Given the description of an element on the screen output the (x, y) to click on. 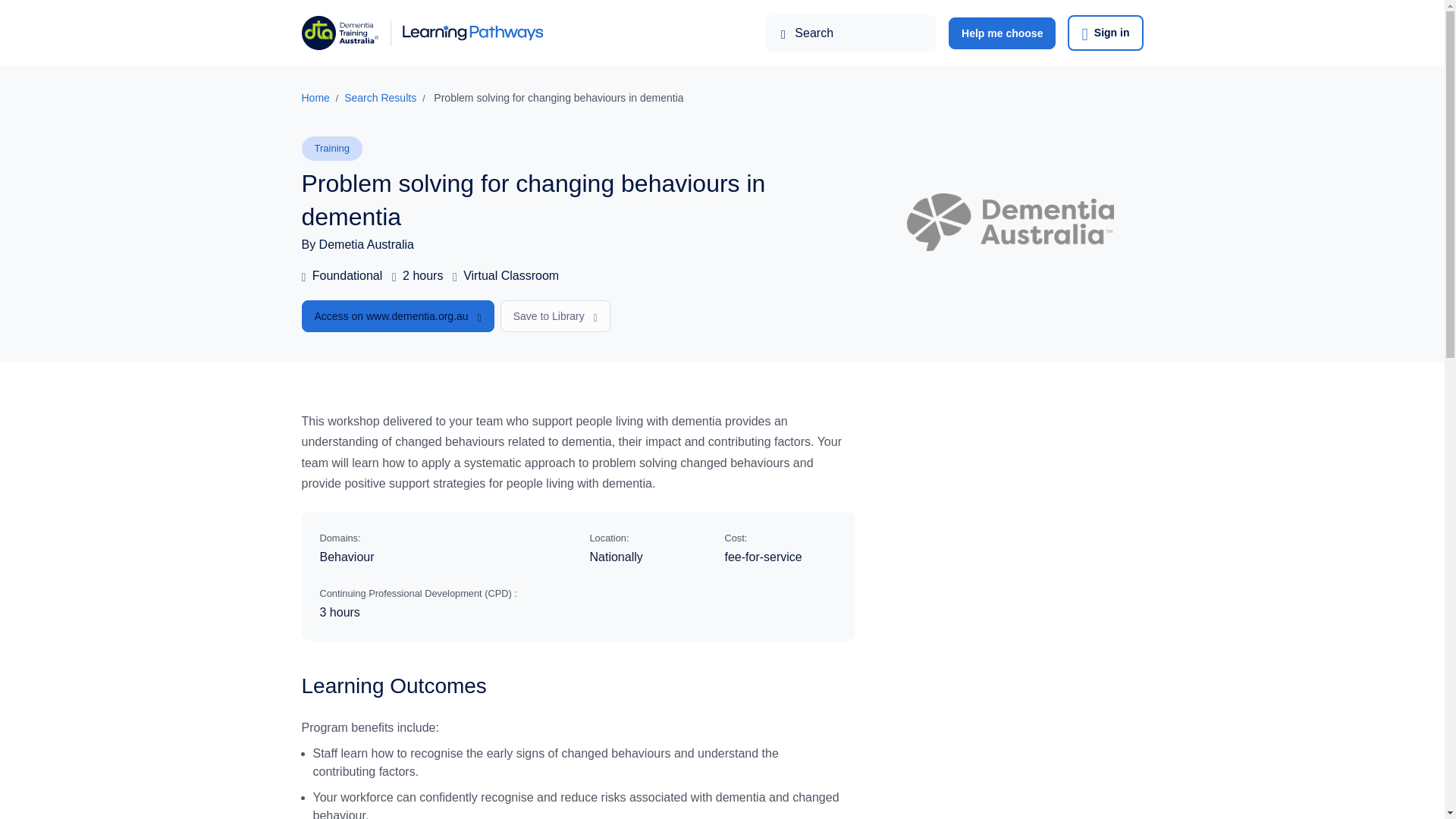
Home (315, 97)
Access on www.dementia.org.au (398, 316)
Sign in (1104, 32)
Training (331, 148)
Search Results (379, 97)
Search (850, 33)
Help me choose (1002, 32)
Save to Library (555, 316)
Training (331, 148)
